Given the description of an element on the screen output the (x, y) to click on. 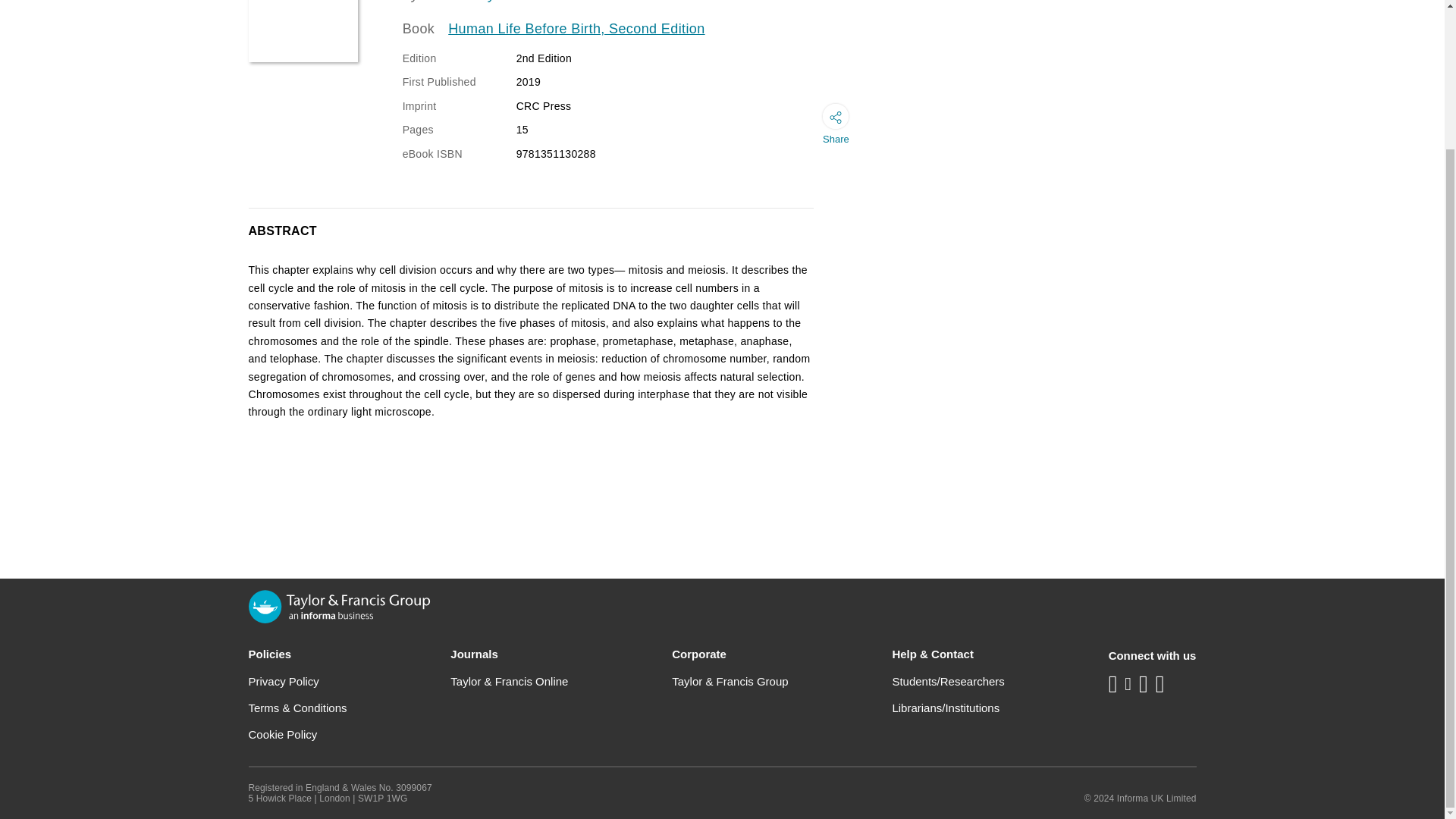
Cell division (303, 31)
Frank J. Dye (462, 1)
Cookie Policy (282, 734)
Share (835, 127)
Privacy Policy (283, 681)
Human Life Before Birth, Second Edition (576, 29)
